Given the description of an element on the screen output the (x, y) to click on. 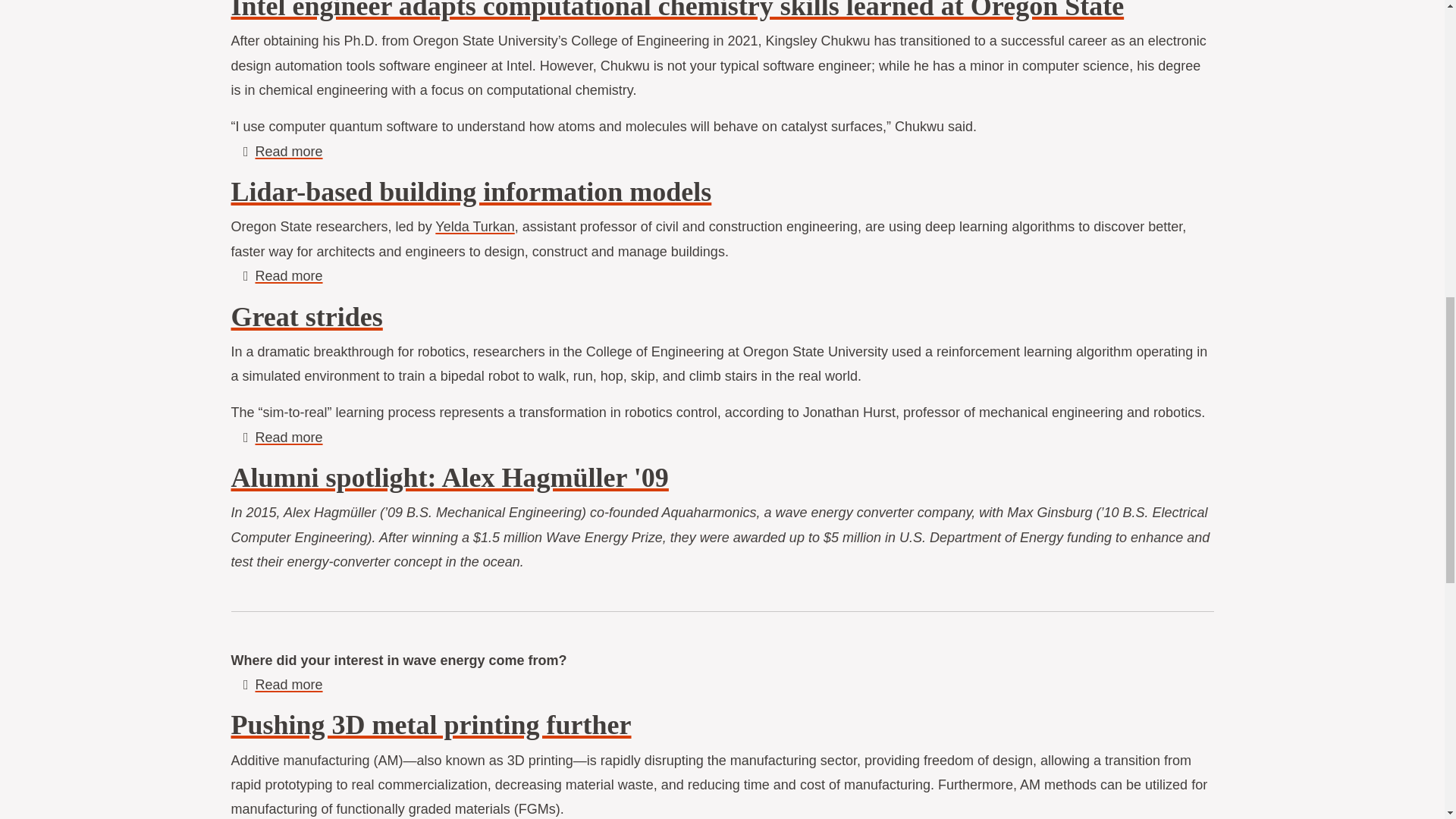
Yelda Turkan (474, 226)
Lidar-based building information models (287, 437)
Great strides (287, 275)
Lidar-based building information models (287, 437)
Yelda Turkan (470, 191)
Great strides (474, 226)
